Given the description of an element on the screen output the (x, y) to click on. 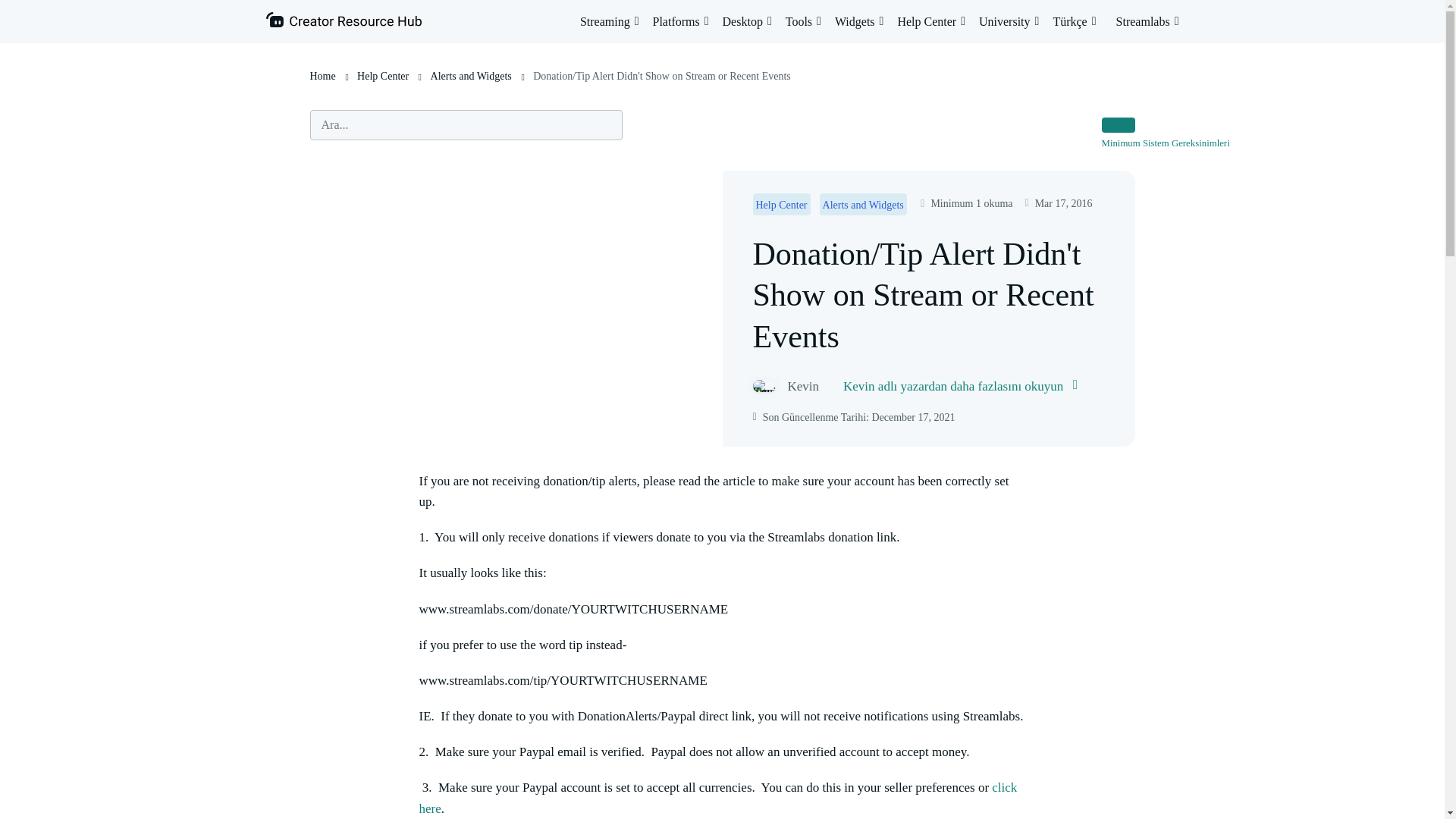
Streamlabs Desktop System Requirements (1165, 143)
Go to Streamlabs (1147, 21)
Tools (803, 21)
Streaming (609, 21)
Desktop (746, 21)
Platforms (679, 21)
